Given the description of an element on the screen output the (x, y) to click on. 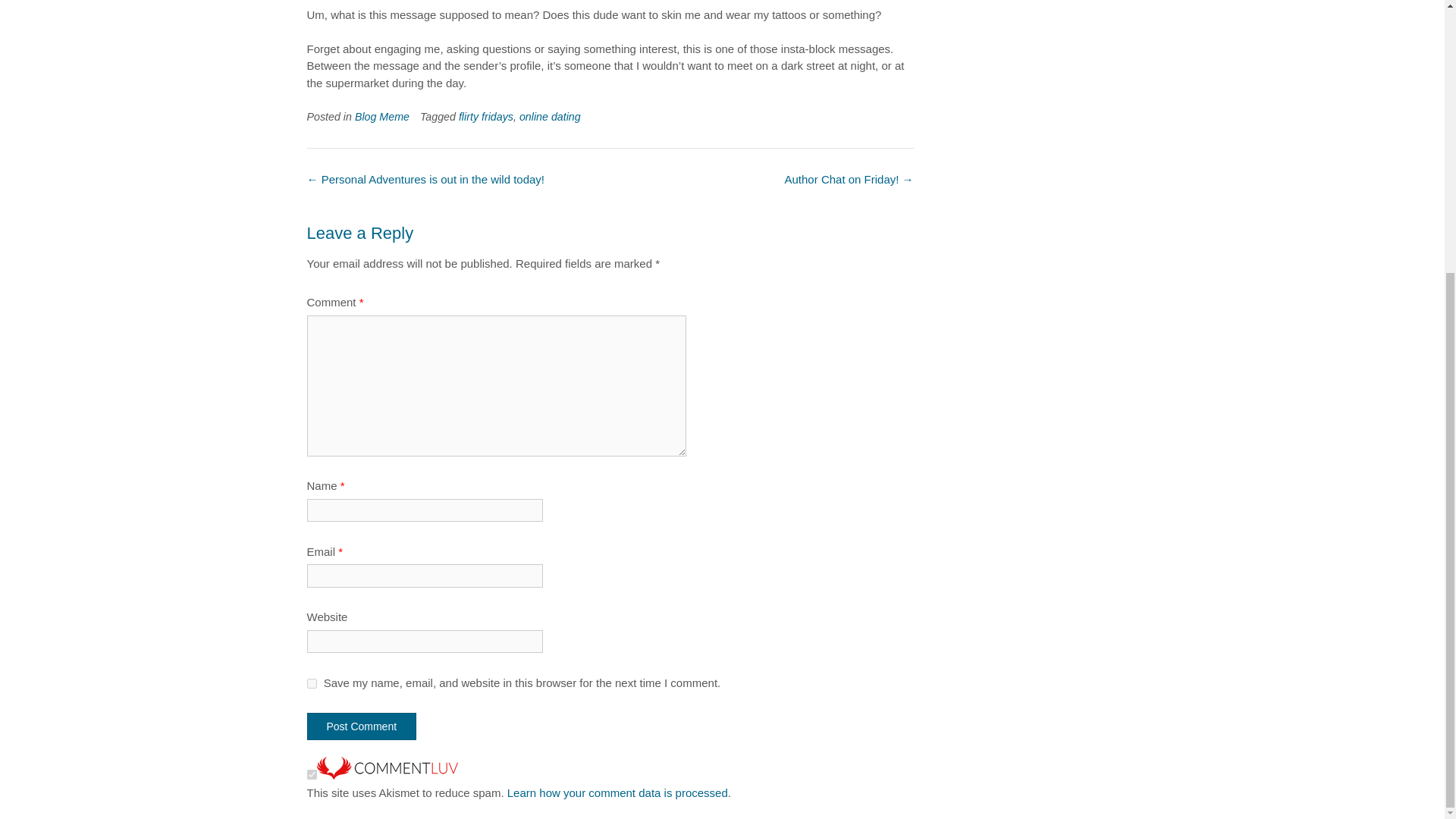
on (310, 774)
Blog Meme (382, 116)
online dating (549, 116)
yes (310, 683)
Post Comment (360, 726)
flirty fridays (485, 116)
Learn how your comment data is processed (617, 792)
Post Comment (360, 726)
